Given the description of an element on the screen output the (x, y) to click on. 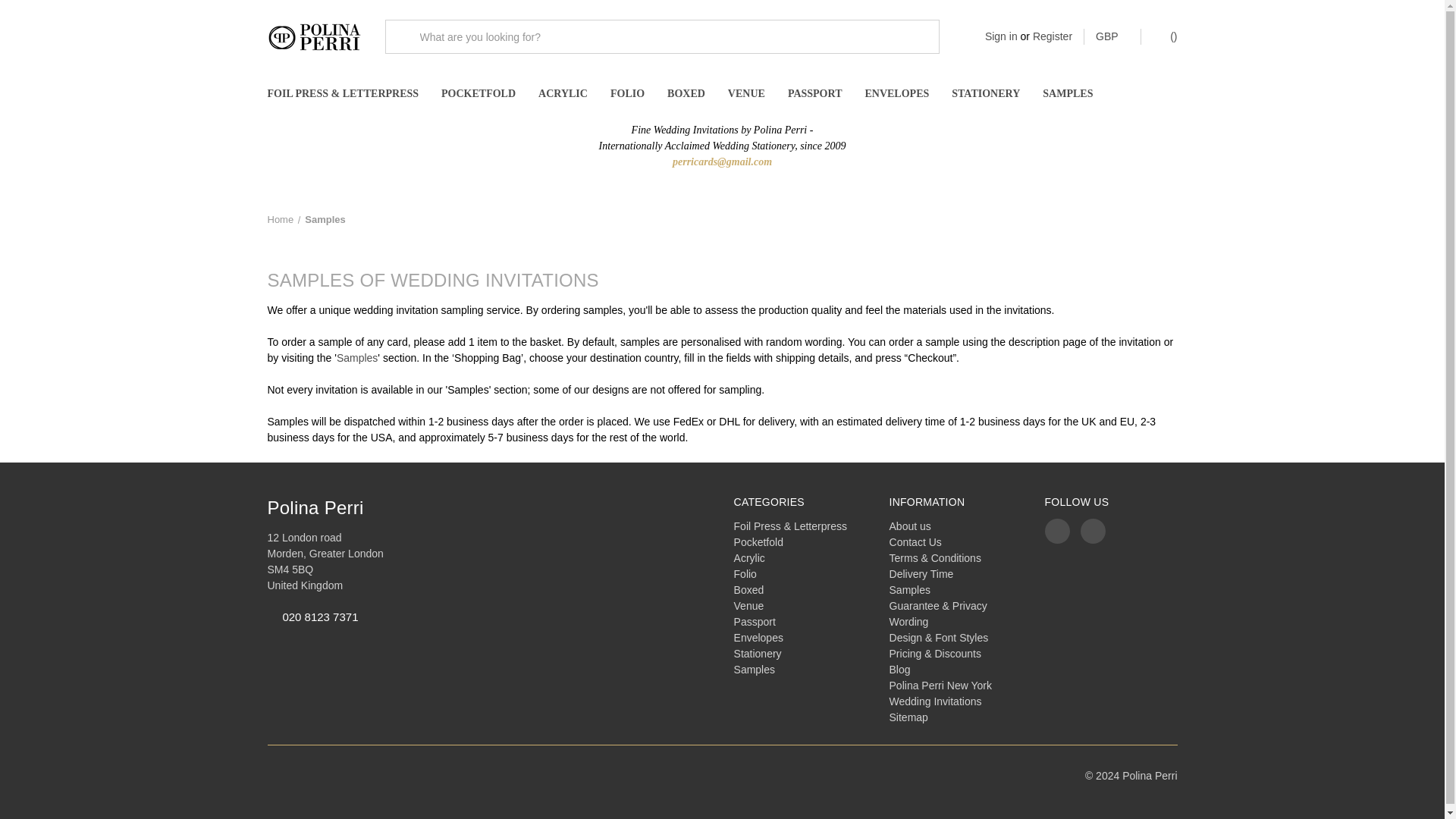
Samples (324, 219)
FOLIO (627, 93)
ENVELOPES (896, 93)
Sign in (1001, 36)
GBP (1112, 36)
SAMPLES (1066, 93)
BOXED (686, 93)
Register (1051, 36)
POCKETFOLD (478, 93)
ACRYLIC (562, 93)
